Given the description of an element on the screen output the (x, y) to click on. 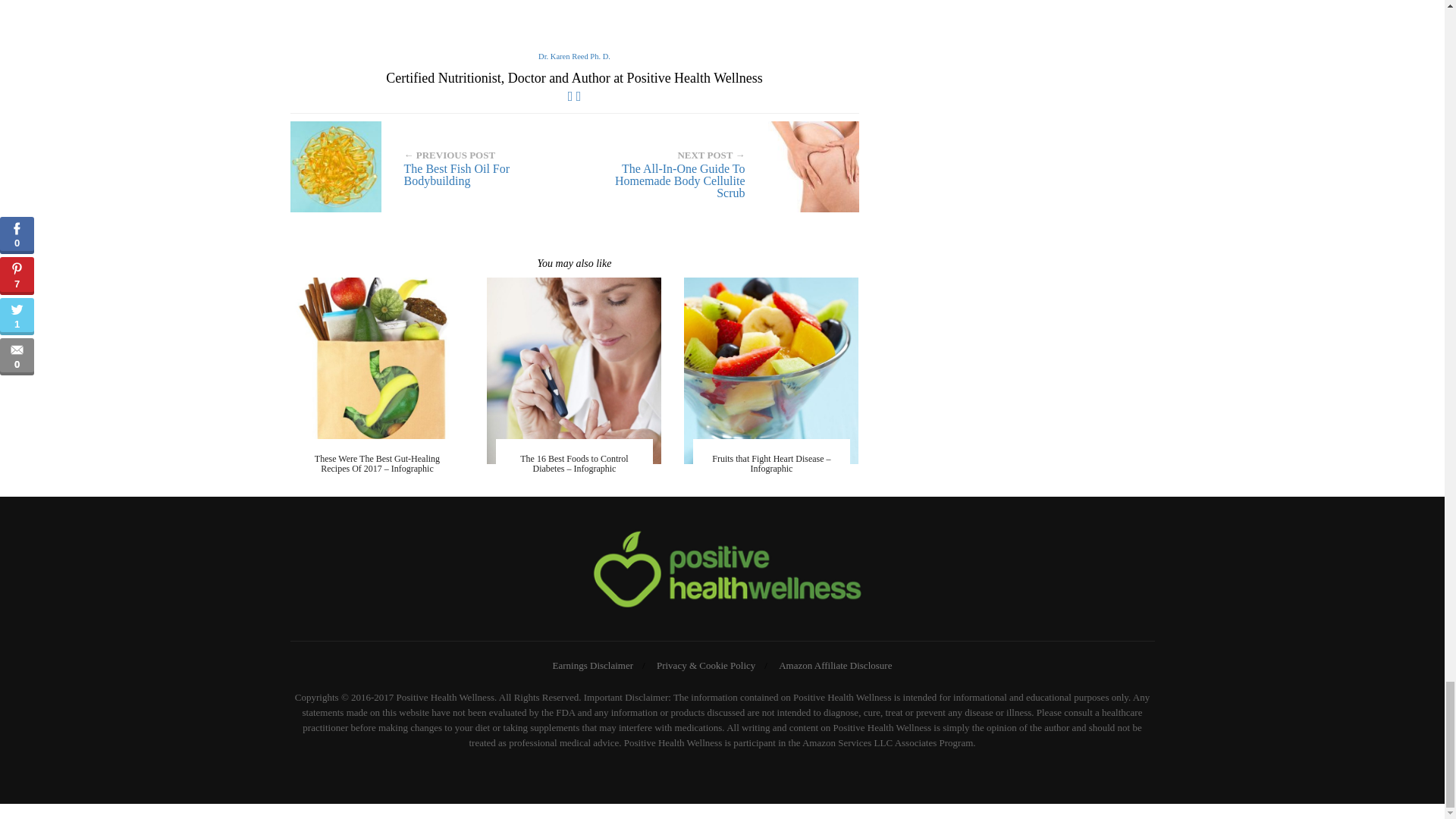
Amazon Affiliate Disclosure (835, 665)
The All-In-One Guide To Homemade Body Cellulite Scrub (722, 166)
Dr. Karen Reed Ph. D. (574, 56)
Posts by Dr. Karen Reed Ph. D. (574, 56)
Researched and Credible Health Advice (721, 571)
The Best Fish Oil For Bodybuilding (425, 166)
Earnings Disclaimer (593, 665)
